Given the description of an element on the screen output the (x, y) to click on. 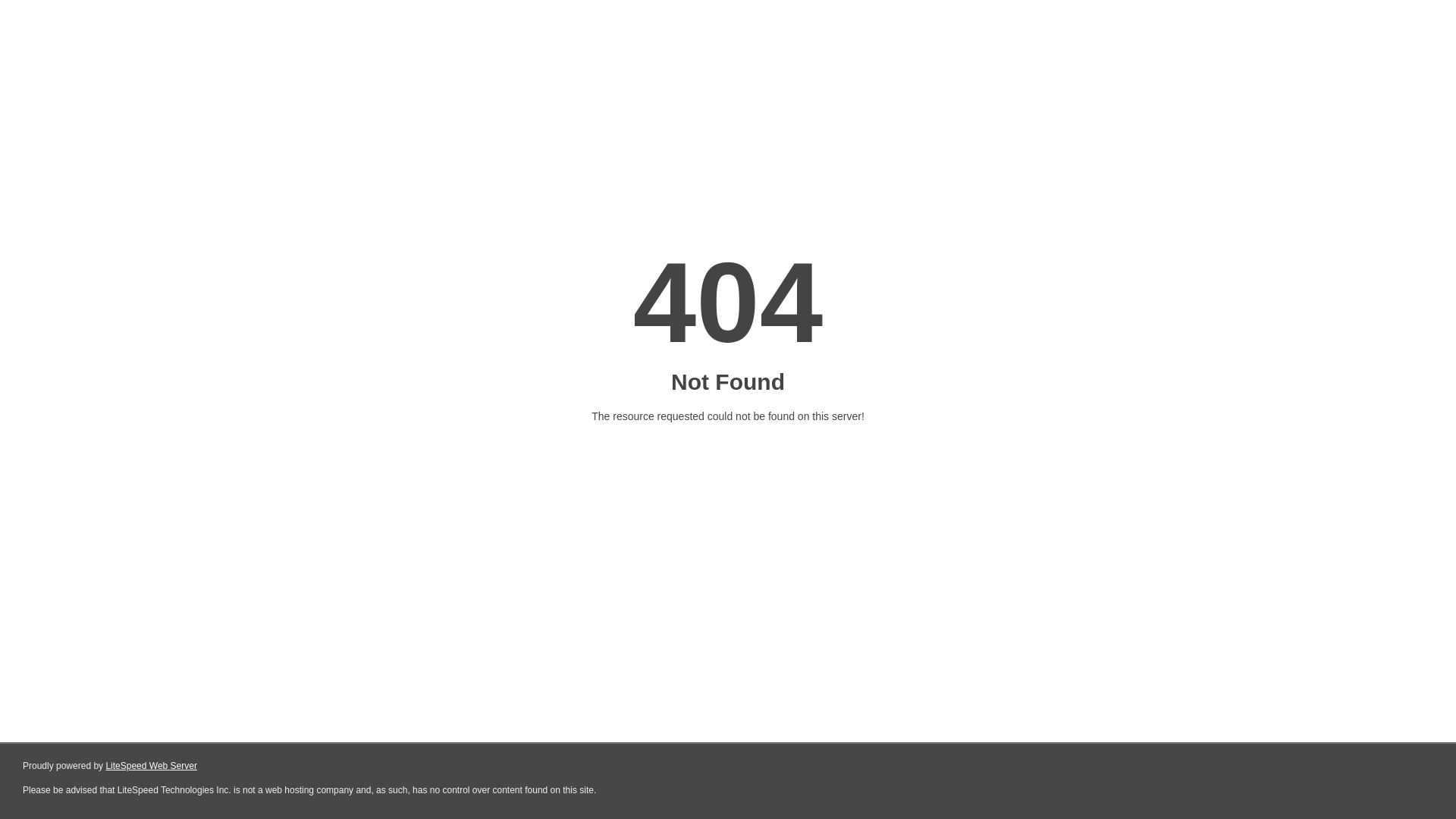
LiteSpeed Web Server Element type: text (151, 765)
